Given the description of an element on the screen output the (x, y) to click on. 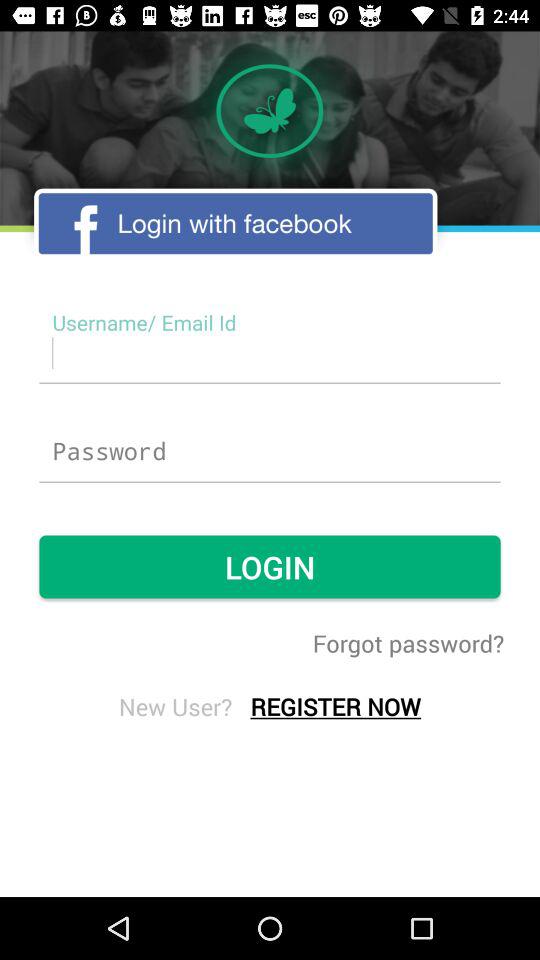
login (269, 451)
